Given the description of an element on the screen output the (x, y) to click on. 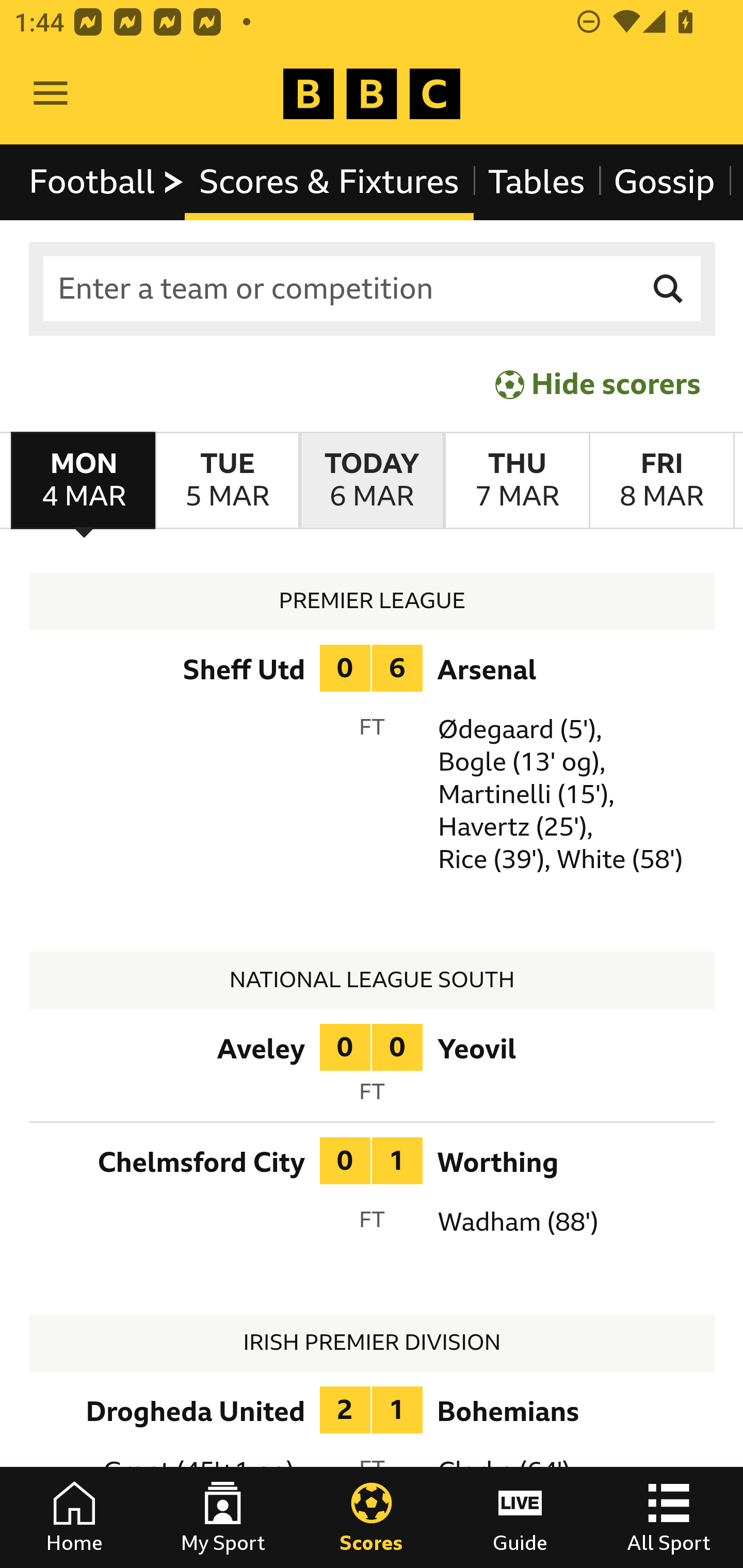
Open Menu (50, 93)
Football  (106, 181)
Scores & Fixtures (329, 181)
Tables (536, 181)
Gossip (664, 181)
Search (669, 289)
Hide scorers (598, 383)
TuesdayMarch 5th Tuesday March 5th (227, 480)
TodayMarch 6th Today March 6th (371, 480)
ThursdayMarch 7th Thursday March 7th (516, 480)
FridayMarch 8th Friday March 8th (661, 480)
Home (74, 1517)
My Sport (222, 1517)
Guide (519, 1517)
All Sport (668, 1517)
